Given the description of an element on the screen output the (x, y) to click on. 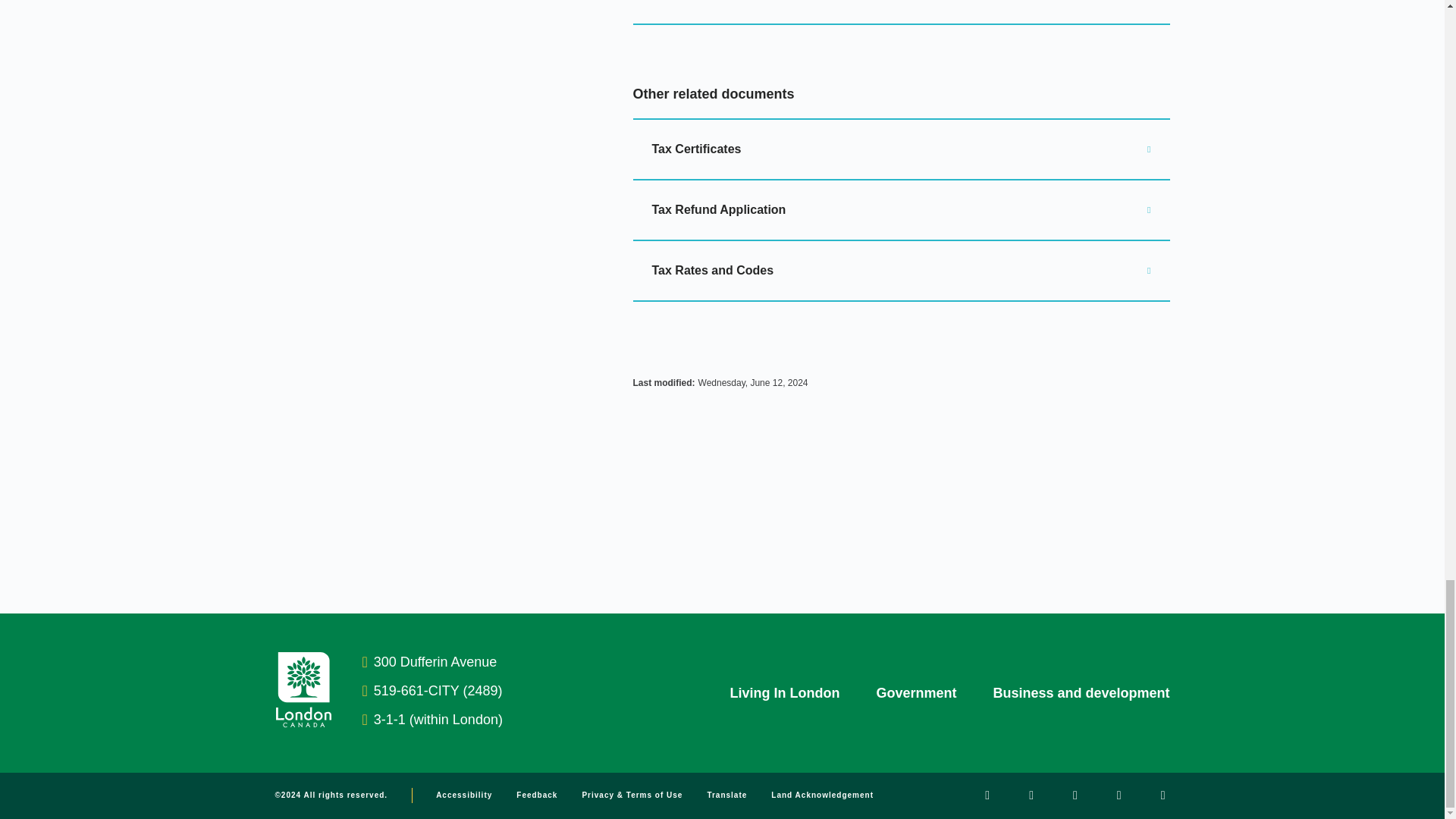
Home (303, 723)
City of London Land Acknowledgement (822, 794)
